Given the description of an element on the screen output the (x, y) to click on. 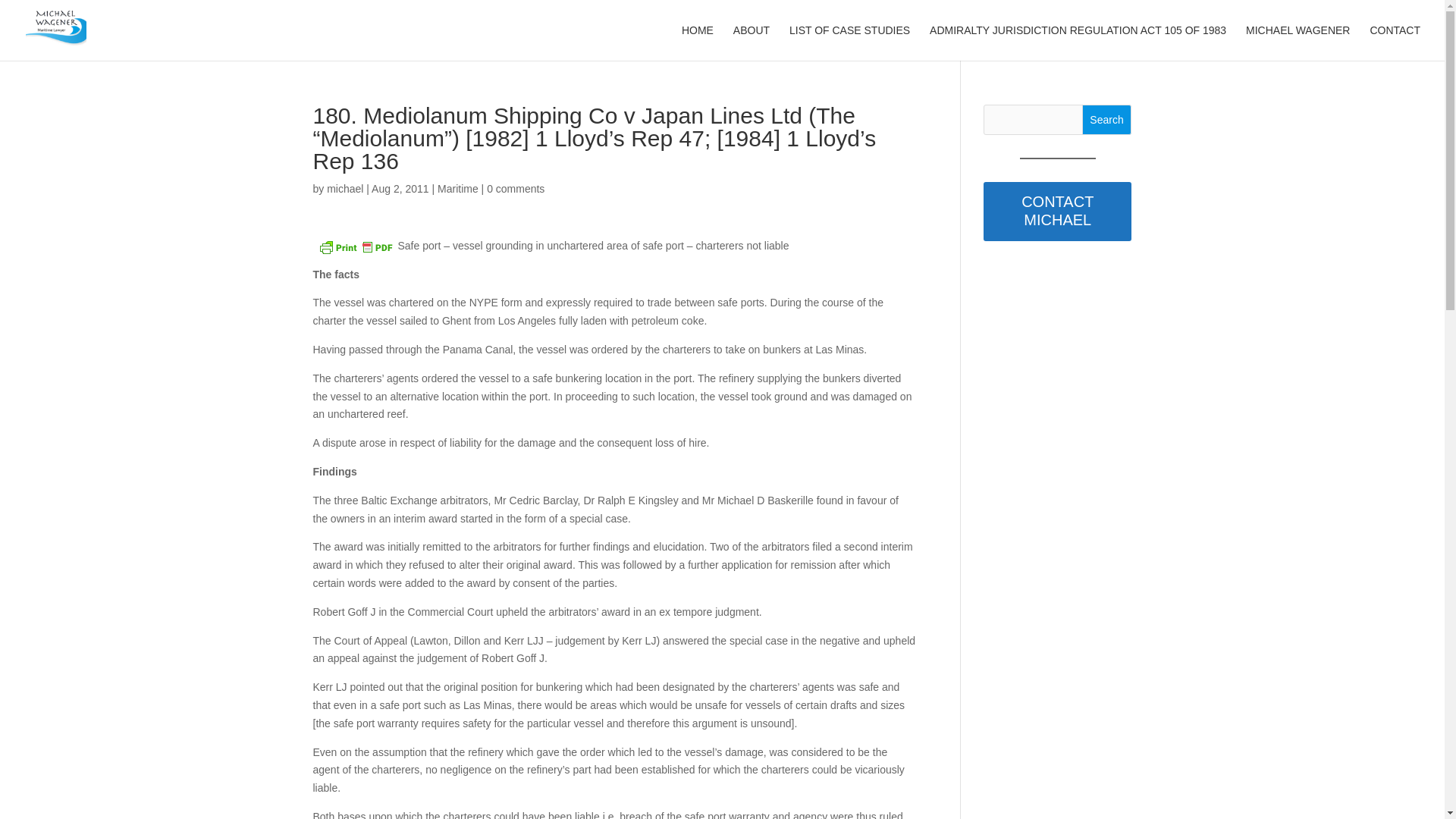
ABOUT (751, 42)
ADMIRALTY JURISDICTION REGULATION ACT 105 OF 1983 (1077, 42)
michael (344, 188)
Posts by michael (344, 188)
Maritime (458, 188)
Search (1106, 119)
HOME (697, 42)
CONTACT (1395, 42)
0 comments (515, 188)
MICHAEL WAGENER (1297, 42)
